Given the description of an element on the screen output the (x, y) to click on. 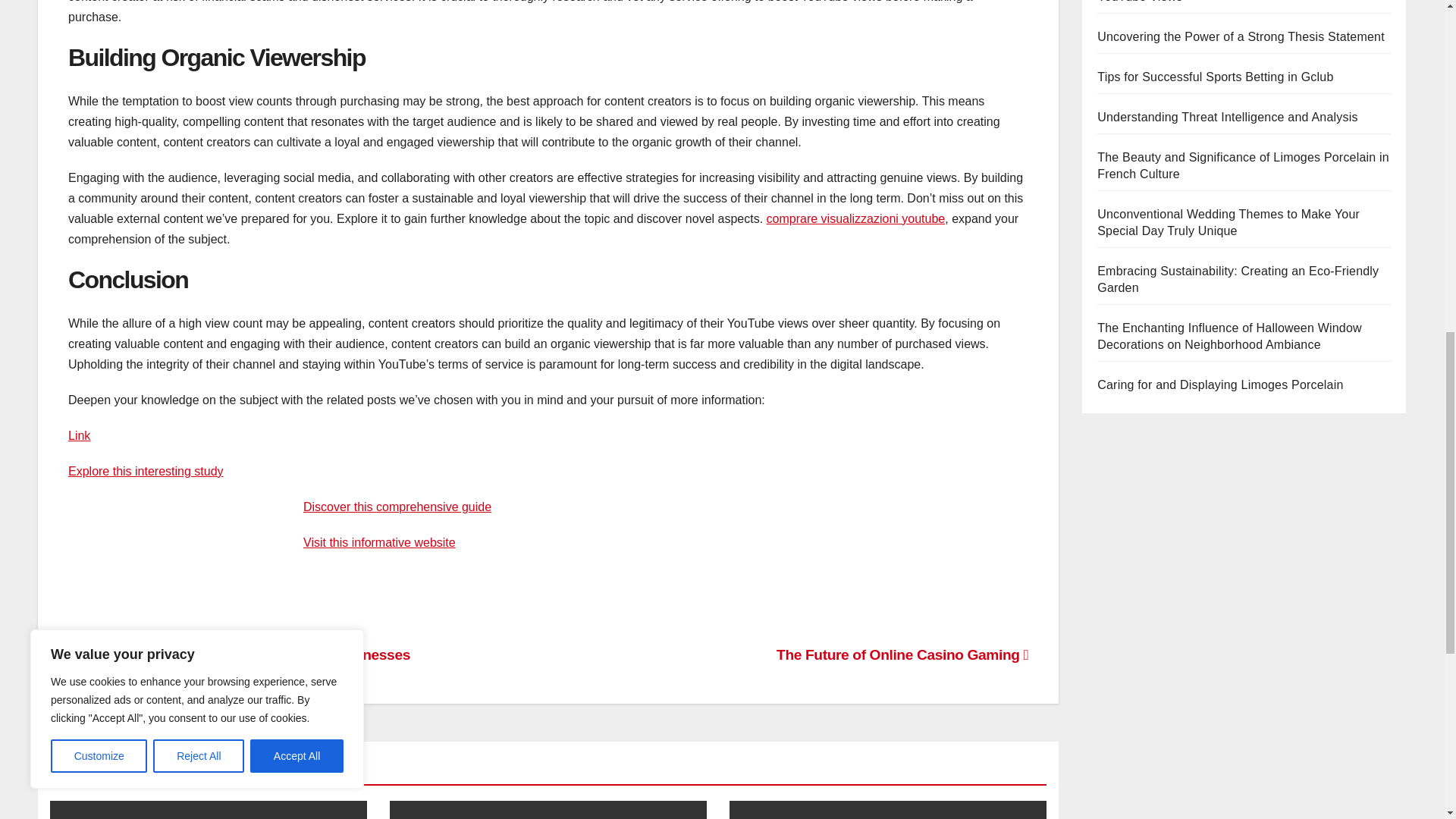
The Benefits of Renewable Energy for Businesses (239, 654)
Visit this informative website (378, 542)
Explore this interesting study (146, 471)
Link (79, 435)
The Future of Online Casino Gaming (901, 654)
comprare visualizzazioni youtube (855, 218)
Discover this comprehensive guide (397, 506)
